Given the description of an element on the screen output the (x, y) to click on. 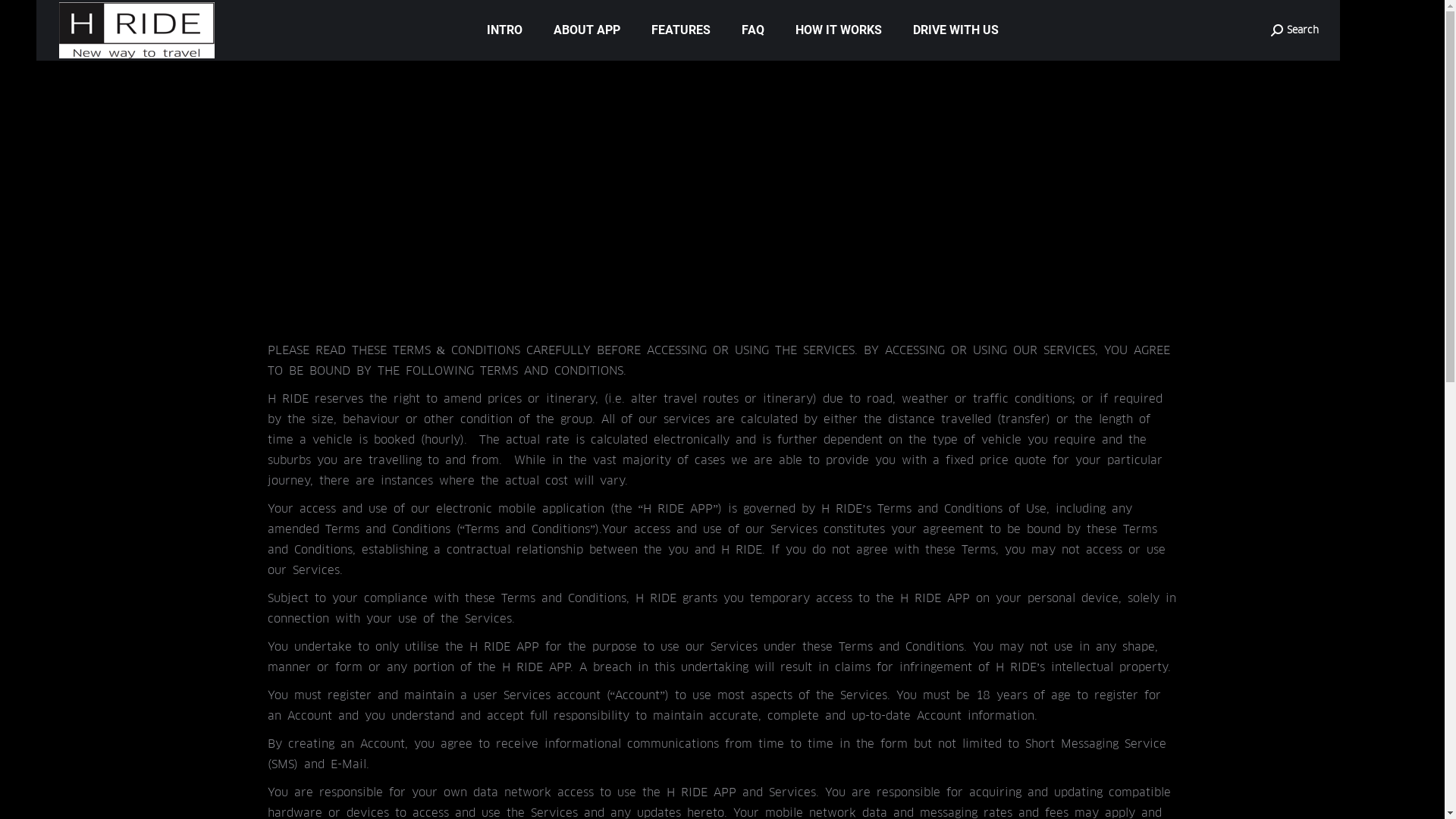
HOW IT WORKS Element type: text (838, 30)
FAQ Element type: text (752, 30)
INTRO Element type: text (504, 30)
Search Element type: text (1294, 30)
FEATURES Element type: text (680, 30)
ABOUT APP Element type: text (586, 30)
DRIVE WITH US Element type: text (955, 30)
Go! Element type: text (23, 16)
